Given the description of an element on the screen output the (x, y) to click on. 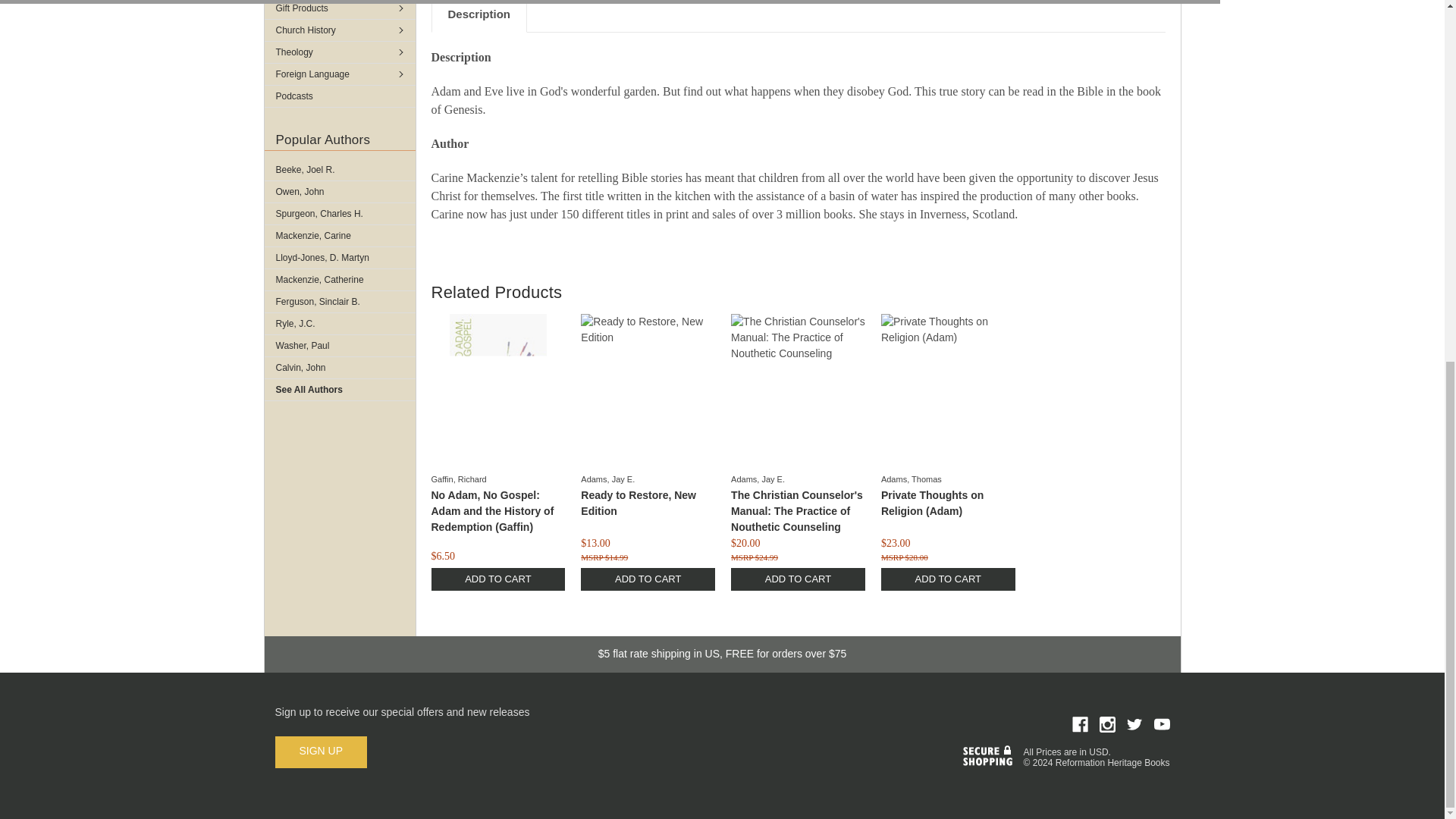
Add to Cart (797, 579)
Add to Cart (497, 579)
facebook (1079, 724)
Add to Cart (947, 579)
youtube (1162, 724)
twitter (1134, 724)
Add to Cart (647, 579)
instagram (1107, 724)
Ready to Restore, New Edition (647, 388)
